Given the description of an element on the screen output the (x, y) to click on. 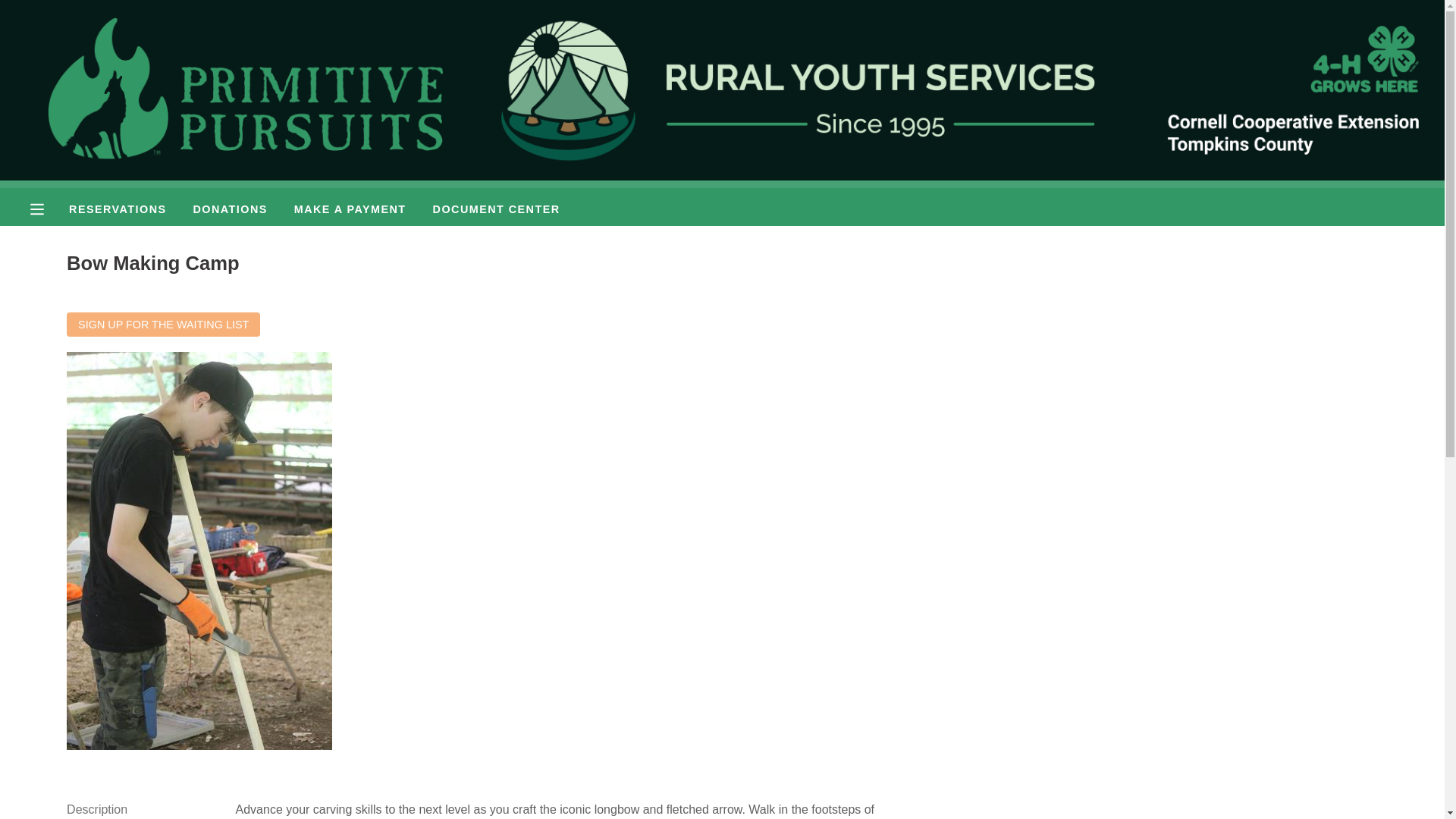
DOCUMENT CENTER (496, 209)
RESERVATIONS (116, 209)
Sign up for the waiting list (163, 324)
Sign up for the waiting list (163, 324)
DONATIONS (230, 209)
Menu (48, 208)
MAKE A PAYMENT (350, 209)
